Given the description of an element on the screen output the (x, y) to click on. 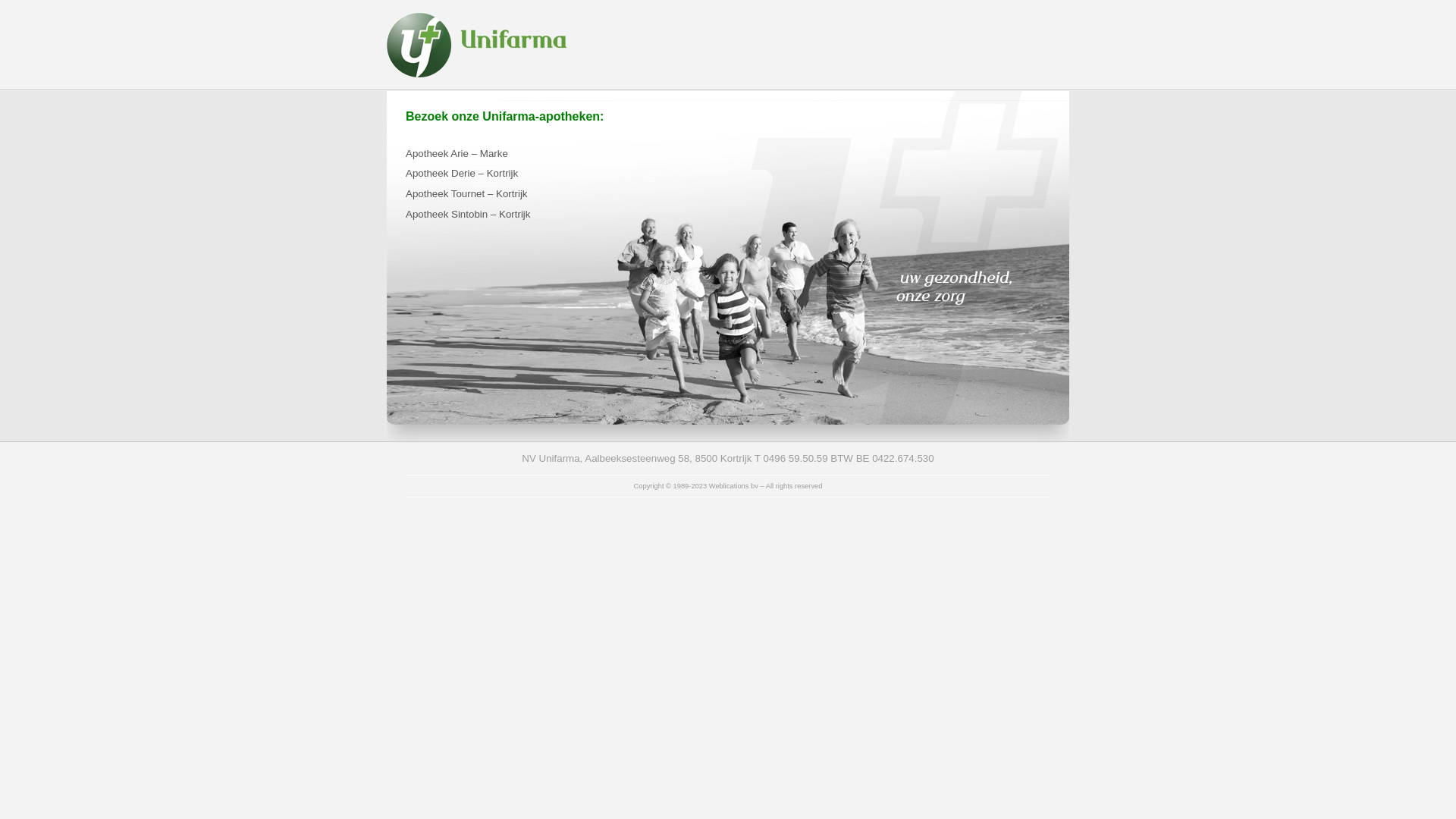
Weblications bv Element type: text (733, 485)
